Given the description of an element on the screen output the (x, y) to click on. 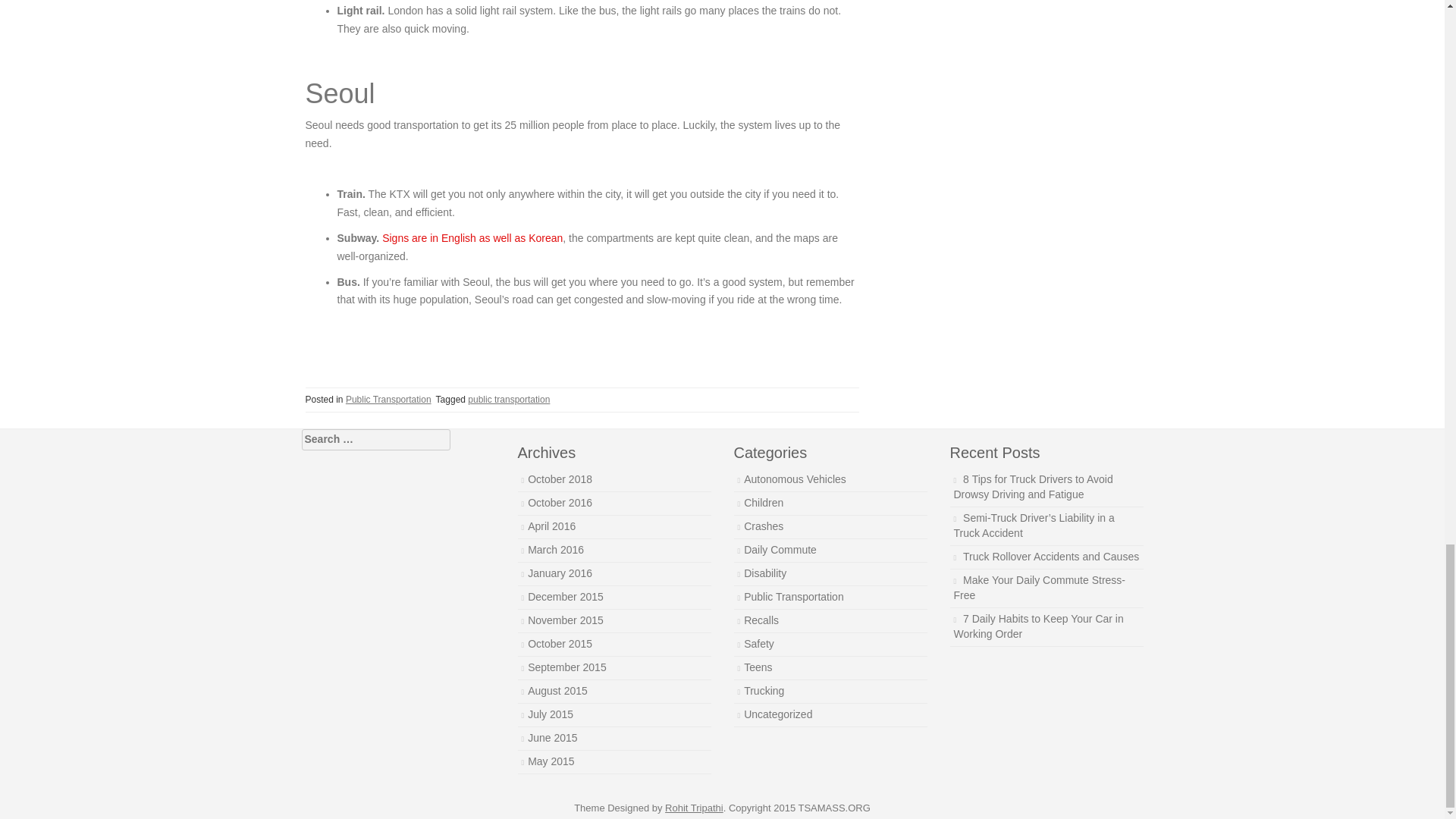
Public Transportation (794, 596)
October 2016 (559, 502)
Recalls (761, 620)
August 2015 (557, 690)
December 2015 (565, 596)
March 2016 (555, 549)
June 2015 (551, 737)
April 2016 (551, 526)
May 2015 (550, 761)
Daily Commute (780, 549)
Disability (765, 573)
July 2015 (550, 714)
November 2015 (565, 620)
January 2016 (559, 573)
Safety (759, 644)
